Given the description of an element on the screen output the (x, y) to click on. 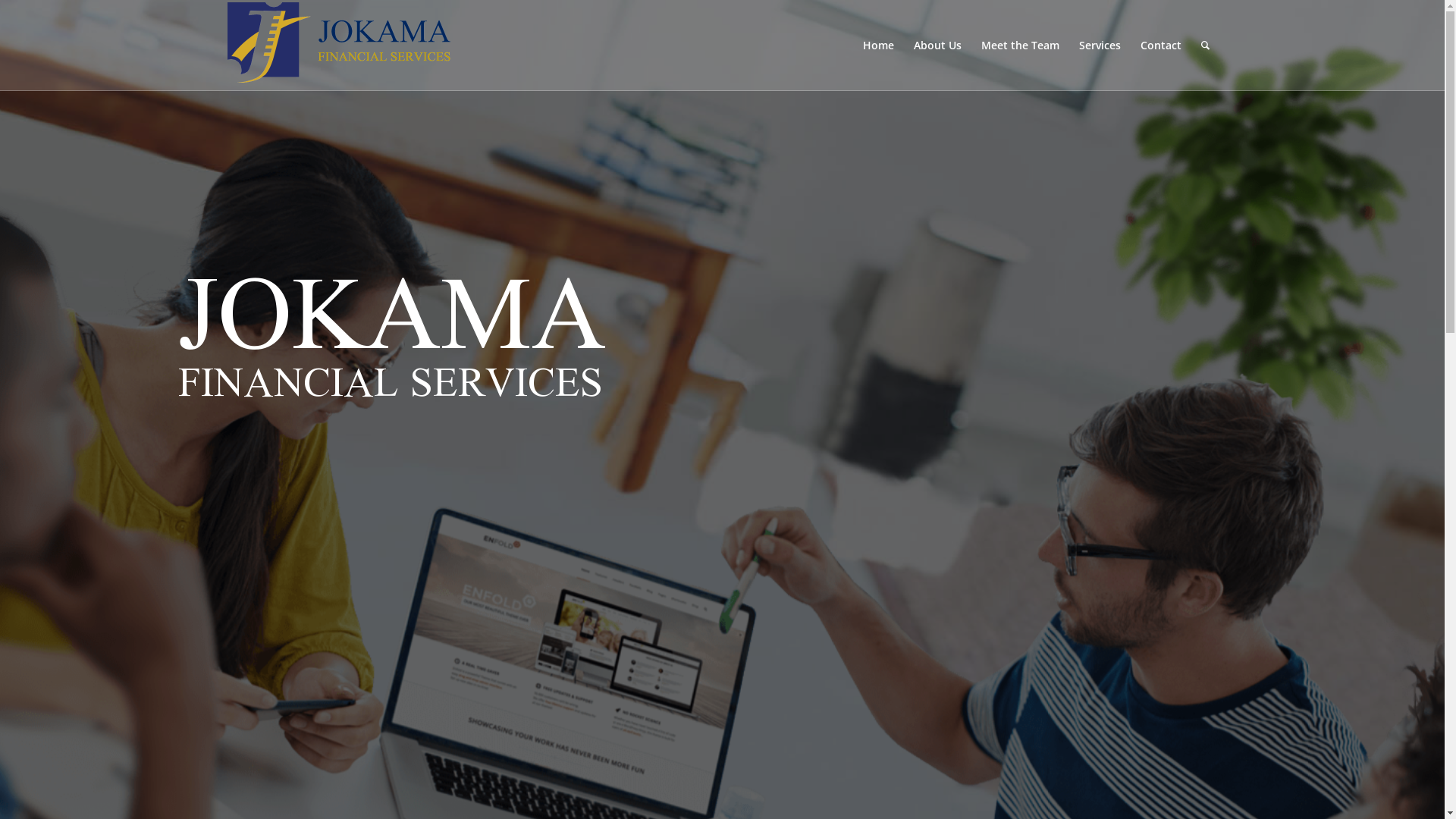
Home Element type: text (877, 45)
Contact Element type: text (1159, 45)
About Us Element type: text (937, 45)
Services Element type: text (1099, 45)
Meet the Team Element type: text (1019, 45)
